Given the description of an element on the screen output the (x, y) to click on. 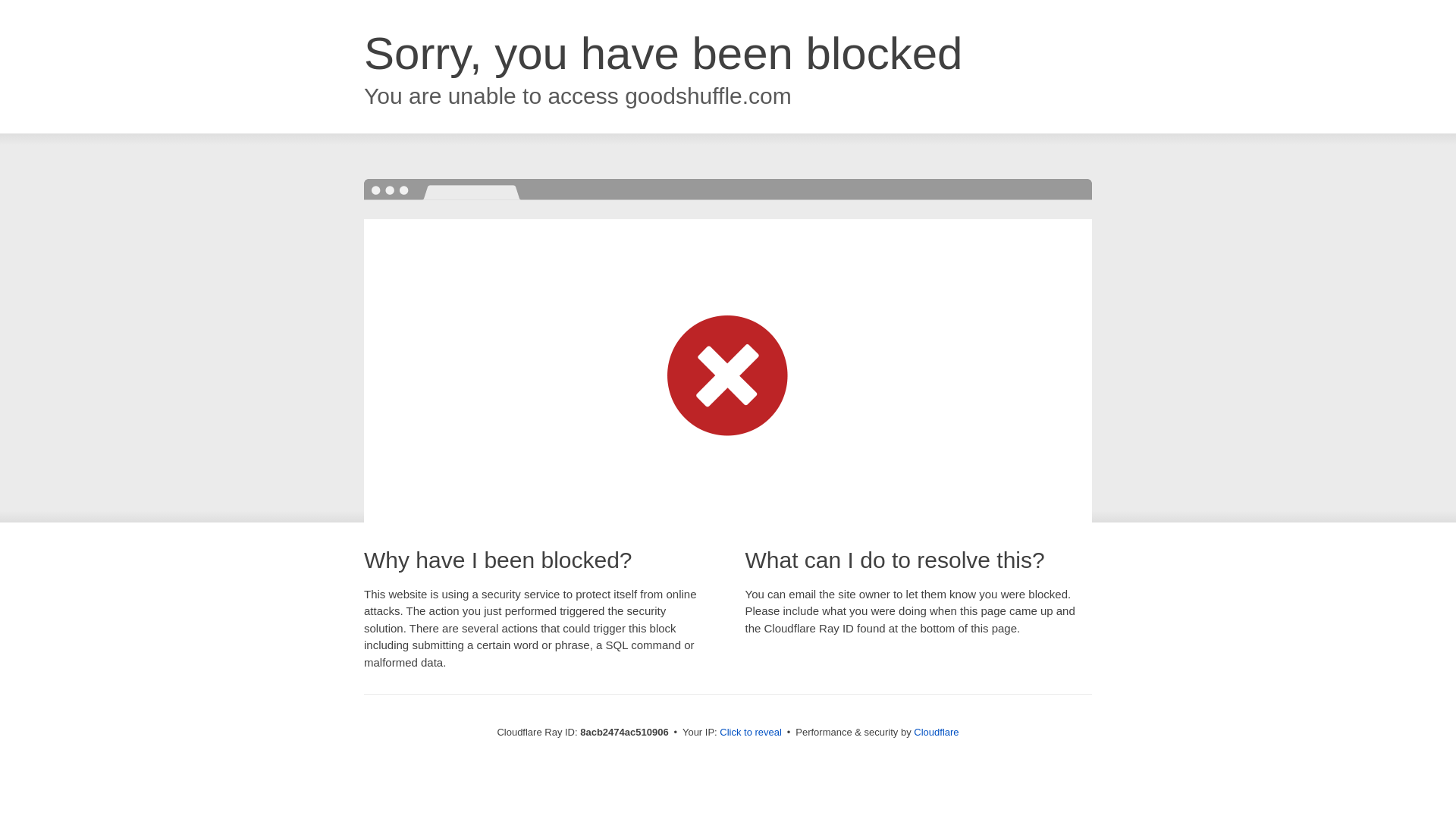
Click to reveal (750, 732)
Cloudflare (936, 731)
